Given the description of an element on the screen output the (x, y) to click on. 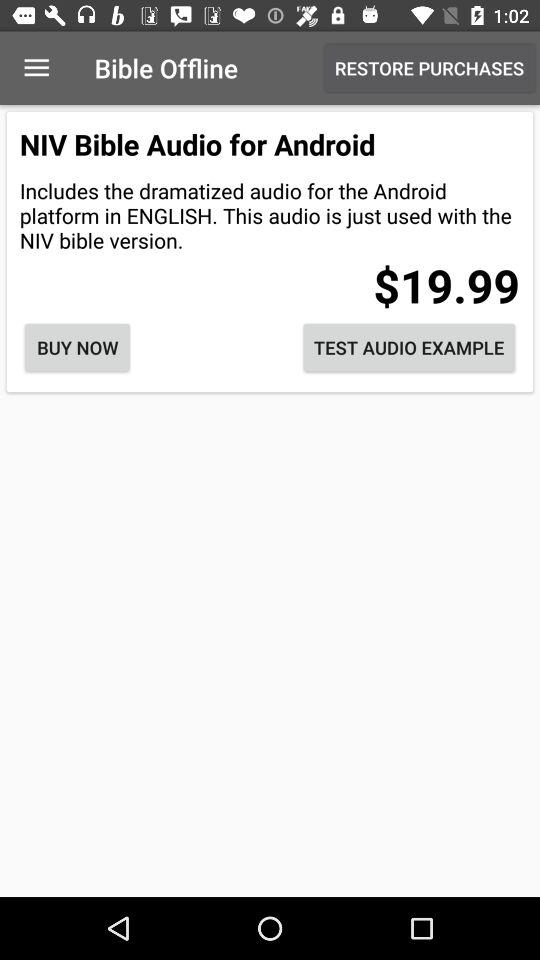
choose the icon below $19.99 (409, 347)
